Given the description of an element on the screen output the (x, y) to click on. 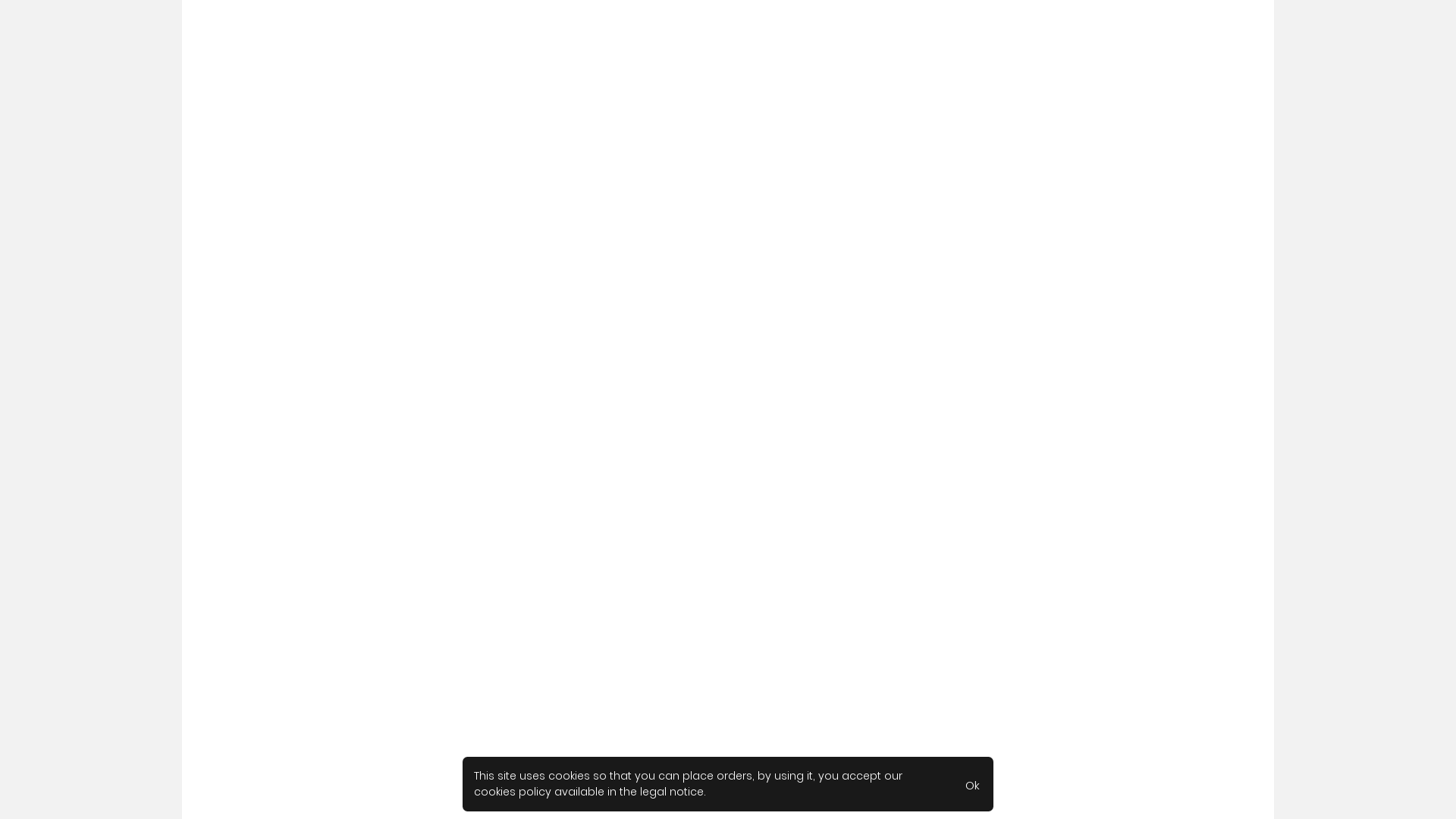
Ok Element type: text (972, 784)
